Given the description of an element on the screen output the (x, y) to click on. 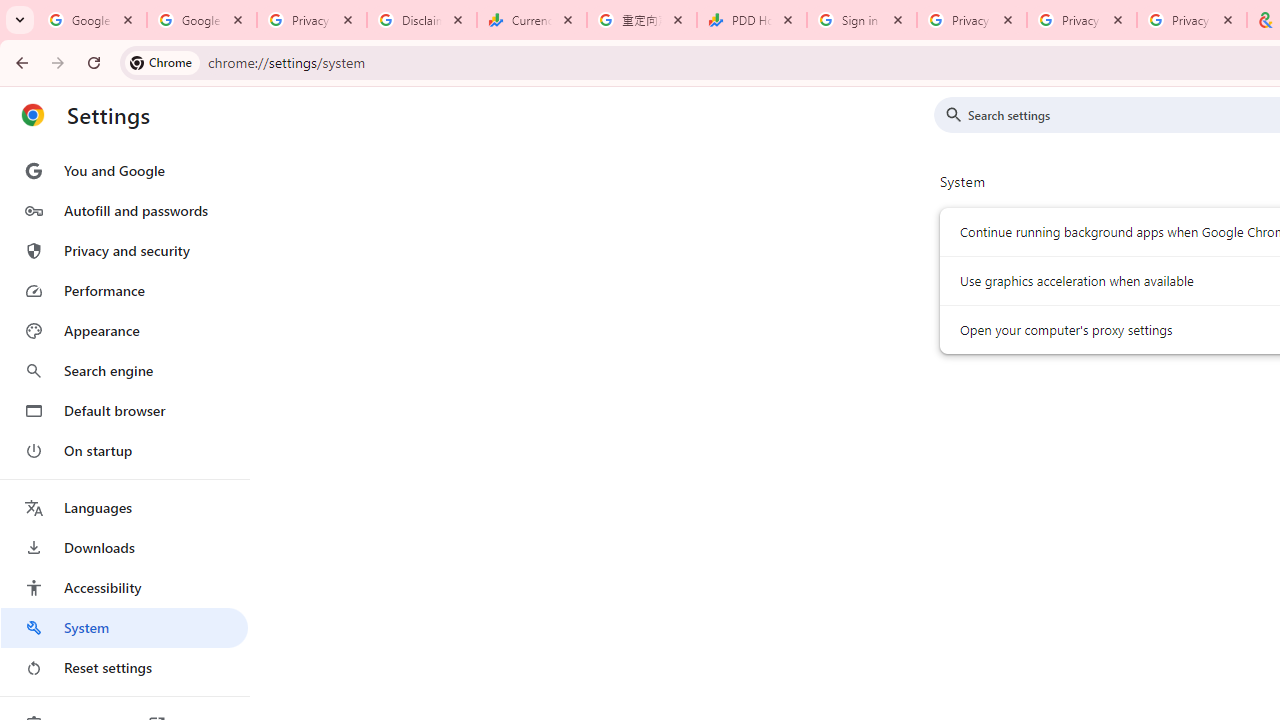
Privacy Checkup (1081, 20)
Currencies - Google Finance (532, 20)
On startup (124, 450)
Default browser (124, 410)
Downloads (124, 547)
Privacy Checkup (1191, 20)
PDD Holdings Inc - ADR (PDD) Price & News - Google Finance (752, 20)
